Given the description of an element on the screen output the (x, y) to click on. 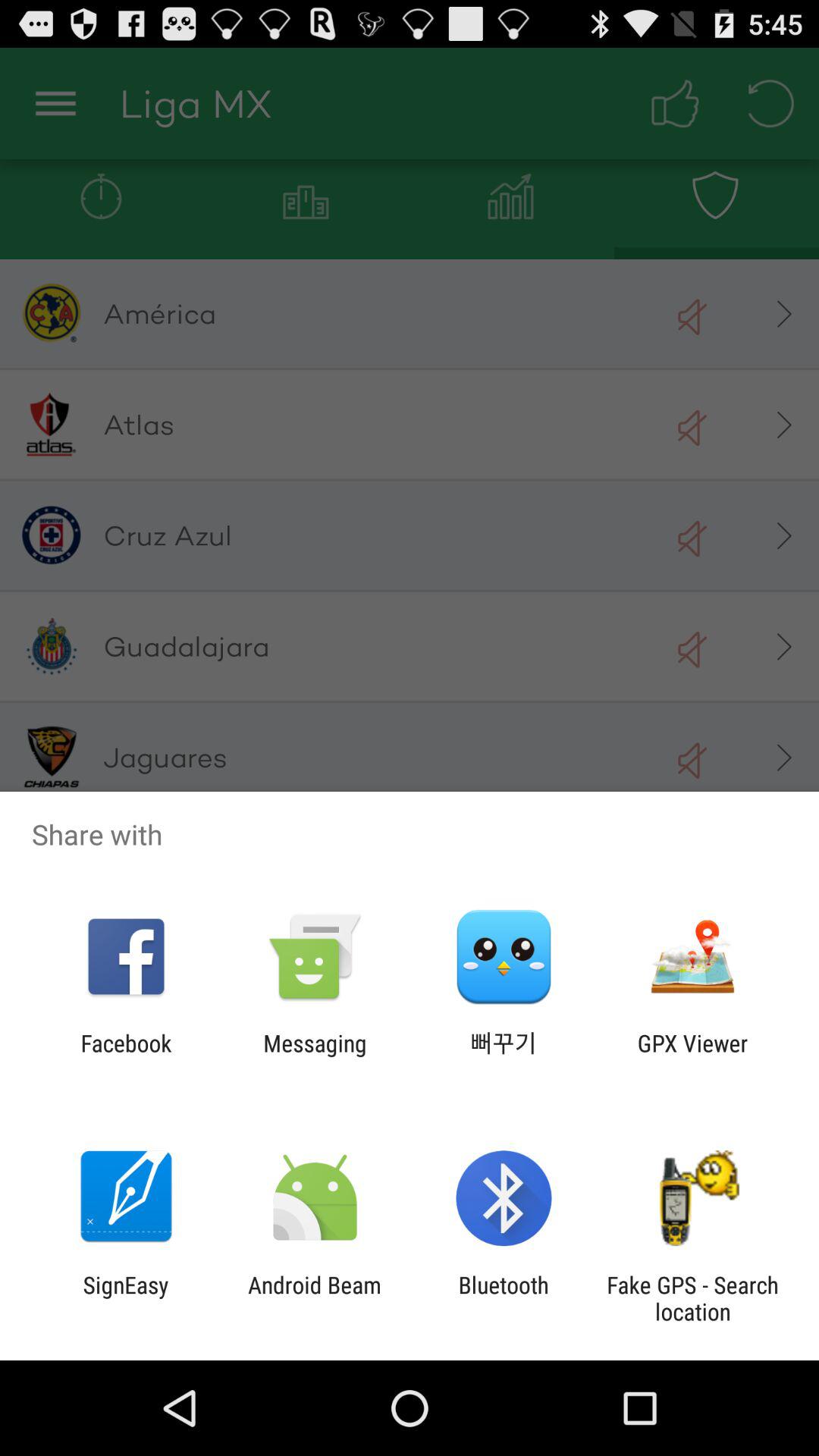
tap app next to the messaging app (125, 1056)
